Given the description of an element on the screen output the (x, y) to click on. 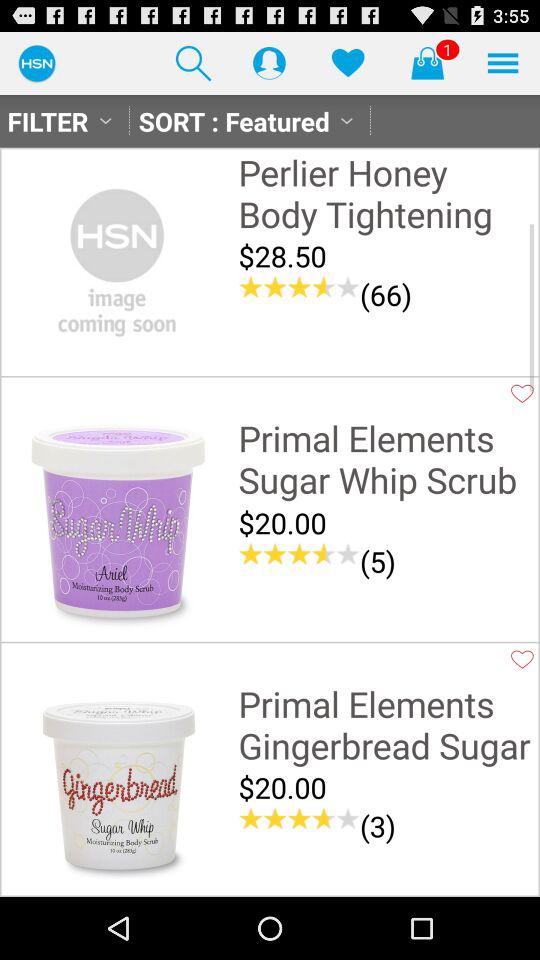
go to profile (269, 62)
